Given the description of an element on the screen output the (x, y) to click on. 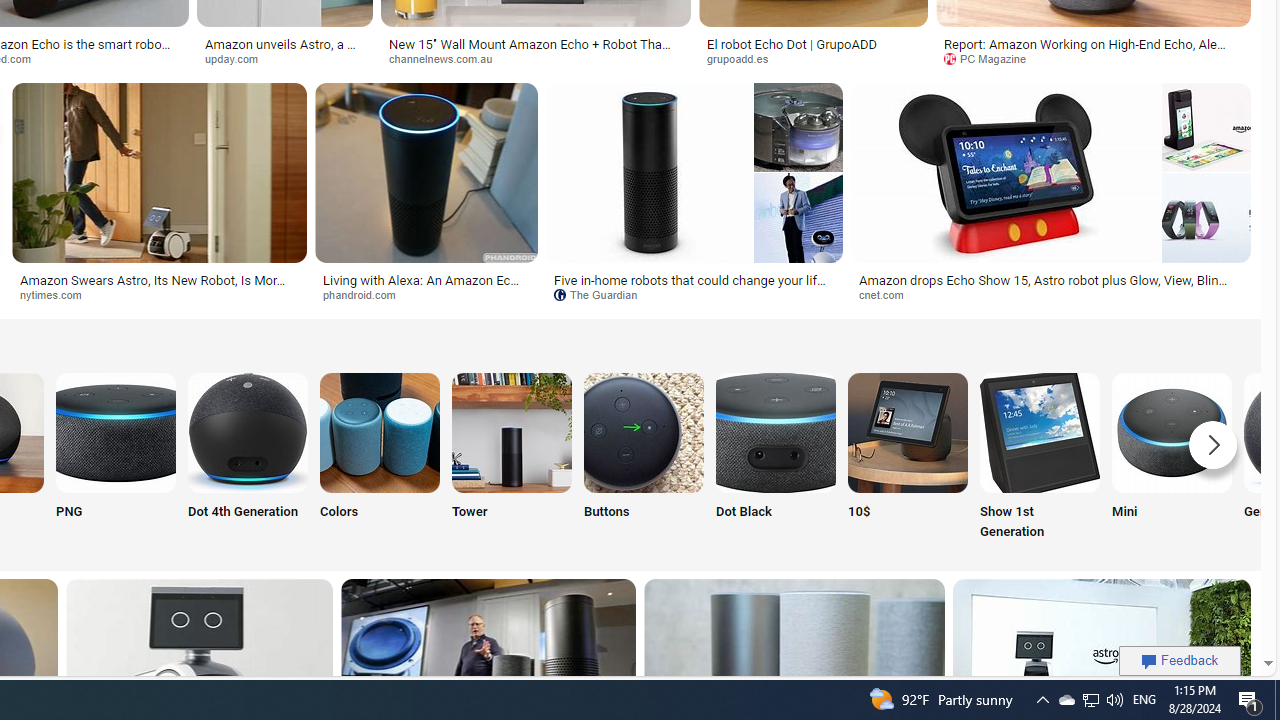
Amazon Echo Mini (1171, 432)
Amazon Echo PNG (116, 432)
Dot 4th Generation (248, 457)
PNG (116, 457)
The Guardian (694, 295)
grupoadd.es (813, 58)
phandroid.com (425, 295)
Dot Black (775, 457)
10$ (907, 457)
upday.com (237, 57)
Amazon Echo Dot Black (775, 432)
grupoadd.es (744, 57)
